Given the description of an element on the screen output the (x, y) to click on. 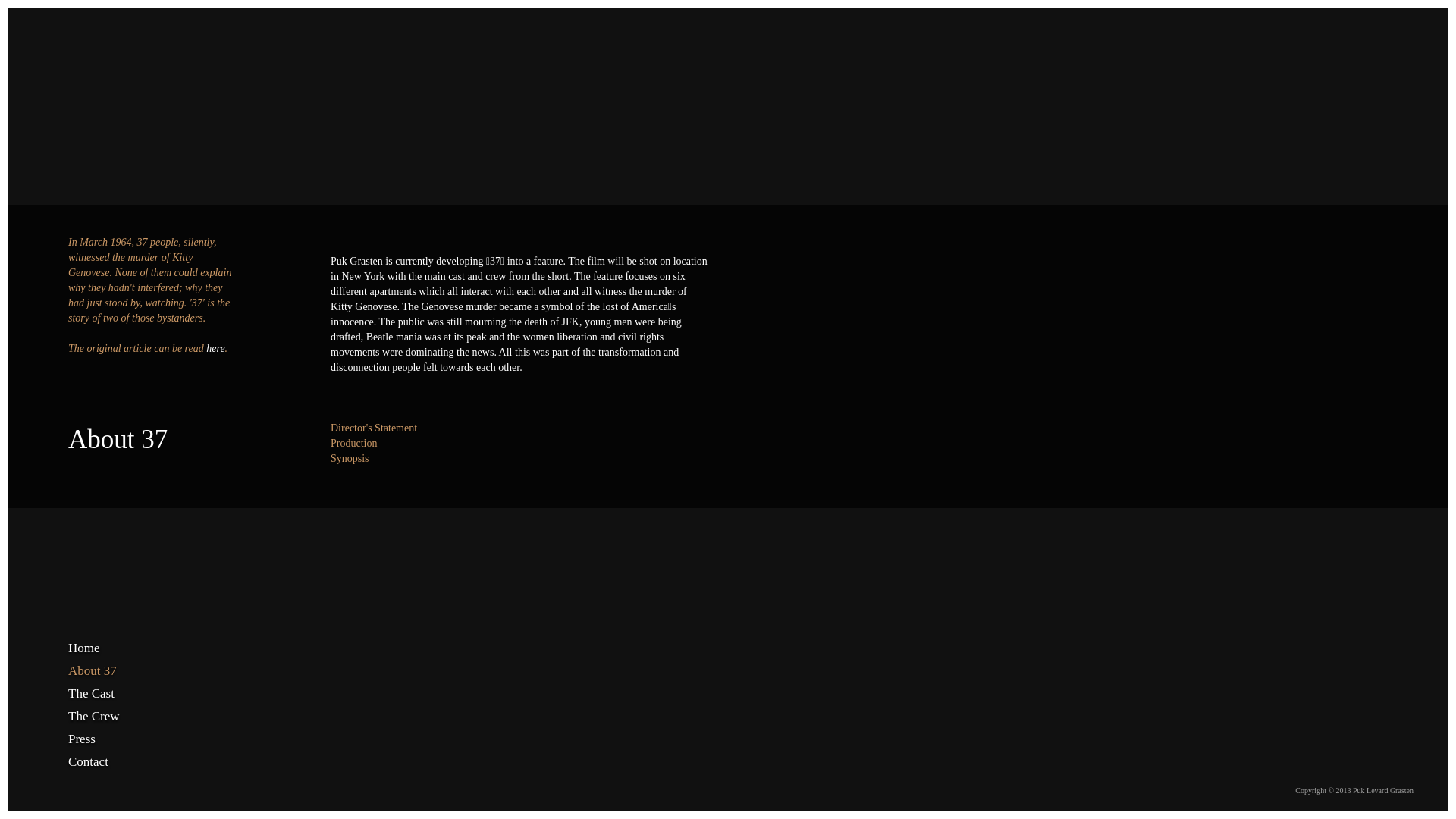
Press Element type: text (109, 739)
Director's Statement Element type: text (373, 427)
Home Element type: text (109, 648)
here Element type: text (215, 348)
The Crew Element type: text (109, 716)
About 37 Element type: text (109, 670)
Production Element type: text (353, 442)
Synopsis Element type: text (349, 458)
The Cast Element type: text (109, 693)
Contact Element type: text (109, 761)
